Given the description of an element on the screen output the (x, y) to click on. 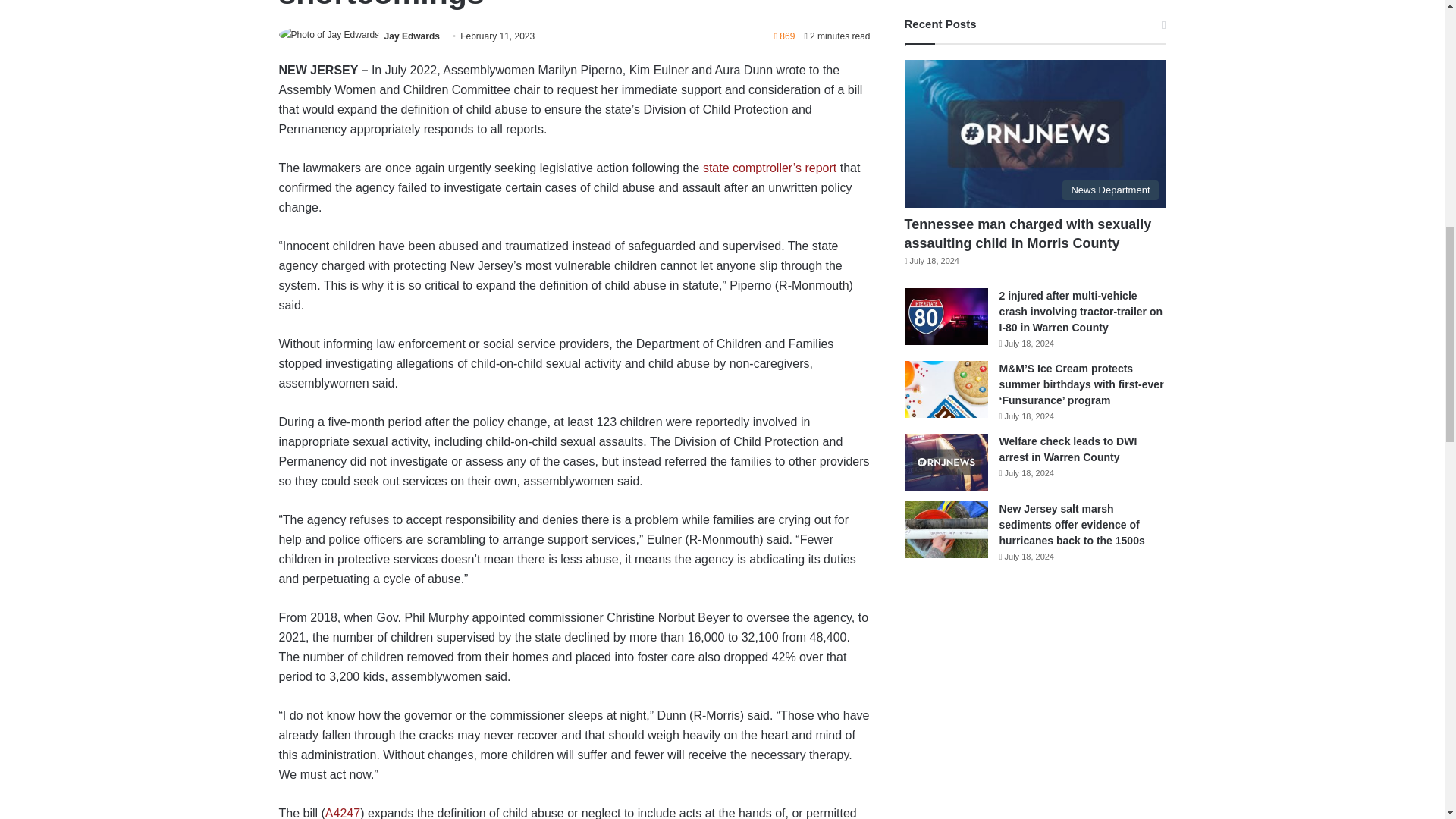
Jay Edwards (411, 36)
